Given the description of an element on the screen output the (x, y) to click on. 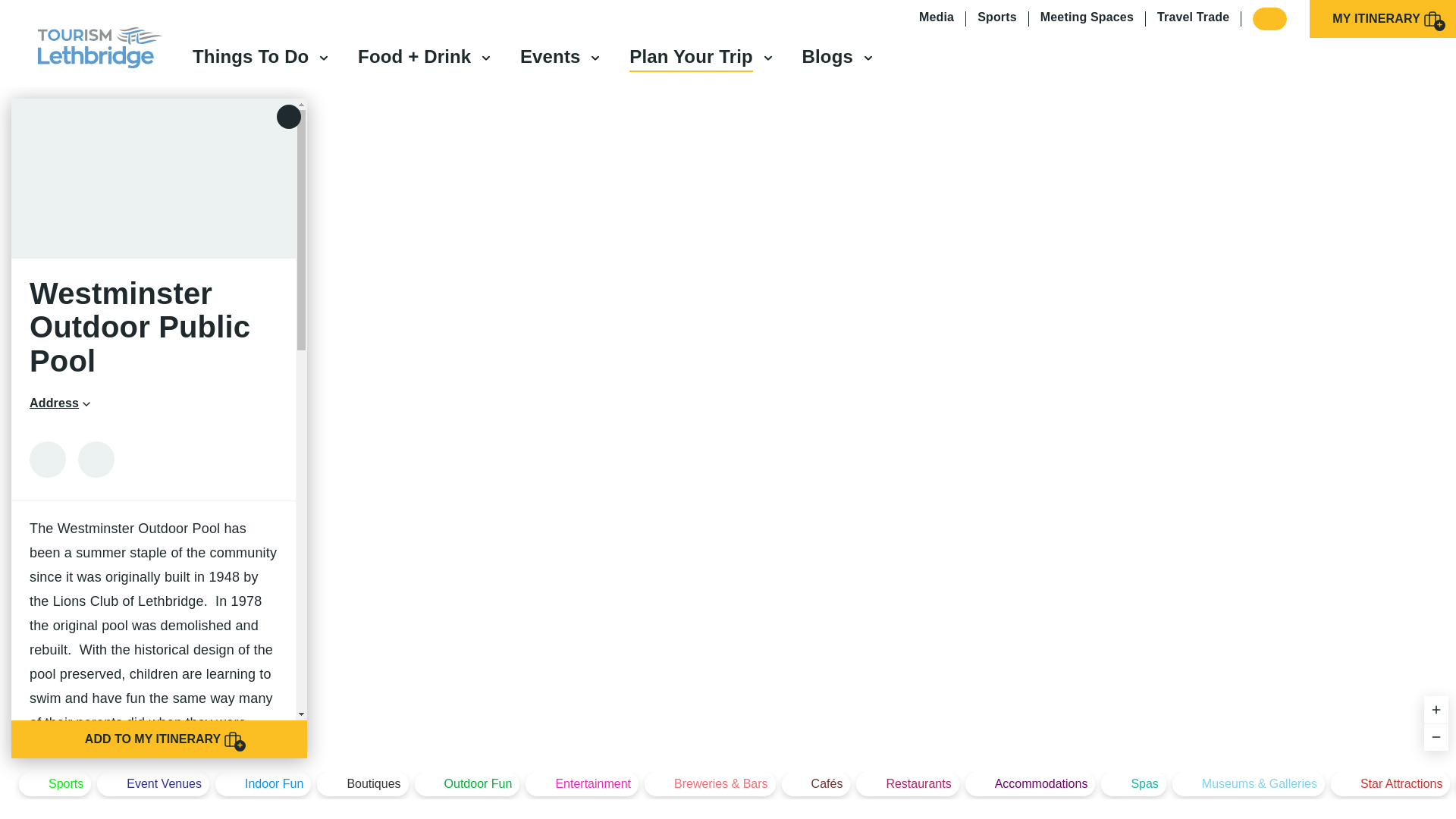
Events (549, 56)
Things To Do (250, 56)
Plan Your Trip (690, 56)
Blogs (827, 56)
